Given the description of an element on the screen output the (x, y) to click on. 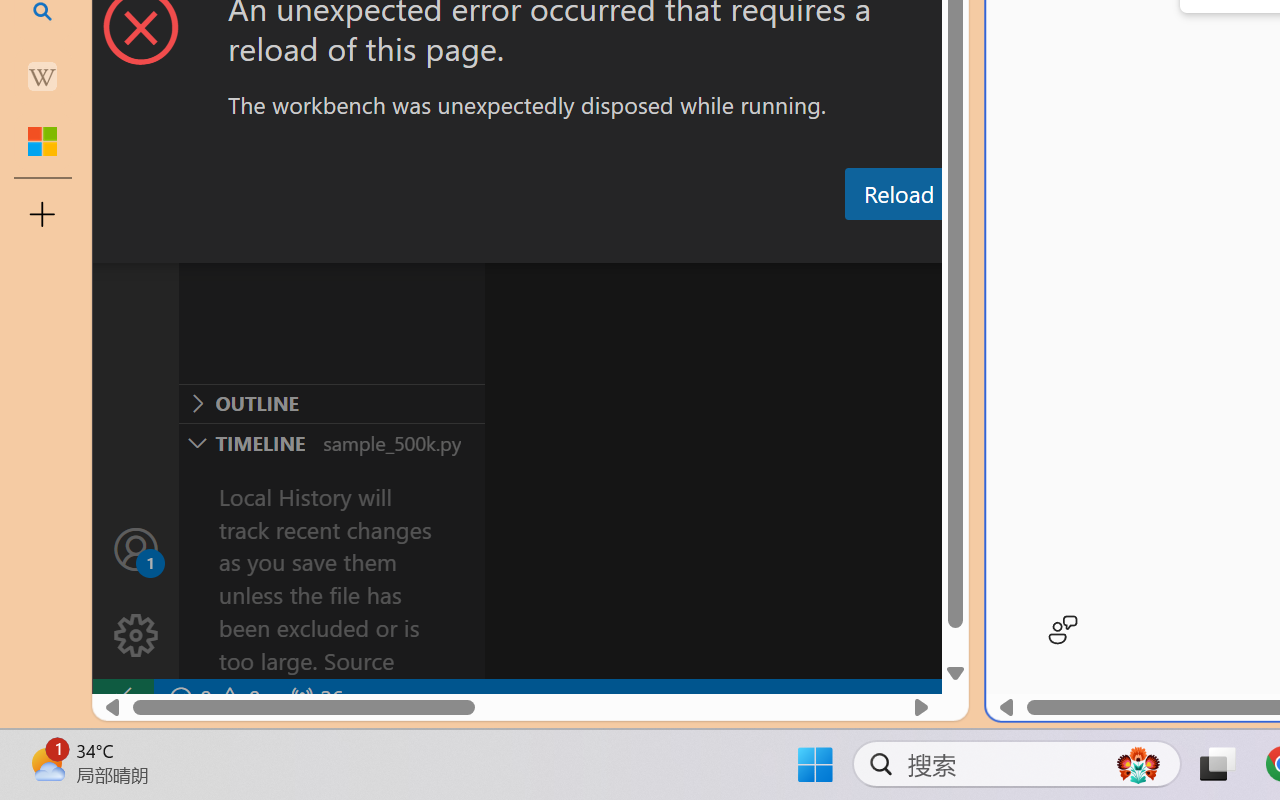
Accounts - Sign in requested (135, 548)
Problems (Ctrl+Shift+M) (567, 243)
No Problems (212, 698)
Output (Ctrl+Shift+U) (696, 243)
Timeline Section (331, 442)
Debug Console (Ctrl+Shift+Y) (854, 243)
